Given the description of an element on the screen output the (x, y) to click on. 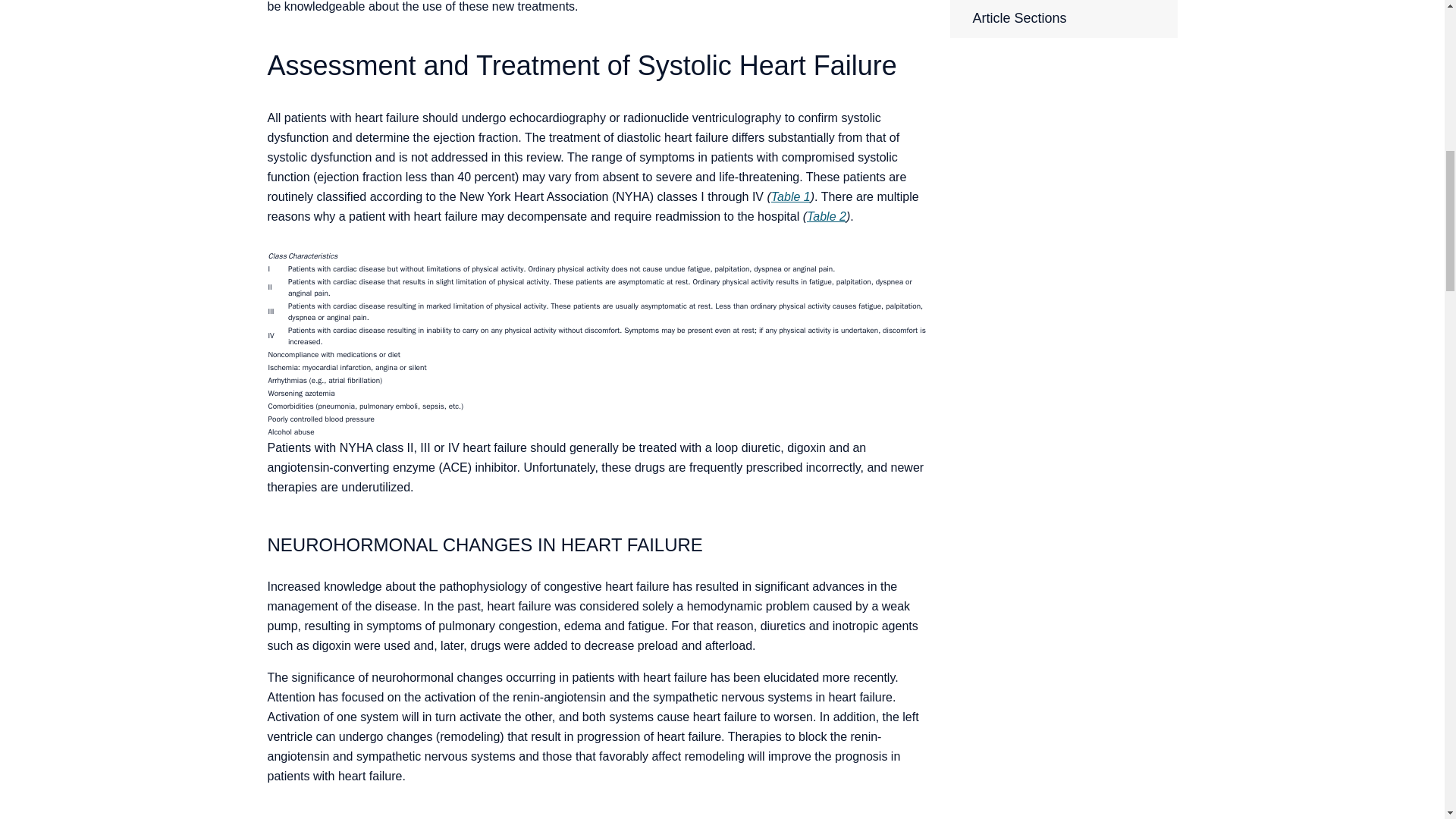
Table 2 (825, 215)
Table 1 (790, 196)
